Given the description of an element on the screen output the (x, y) to click on. 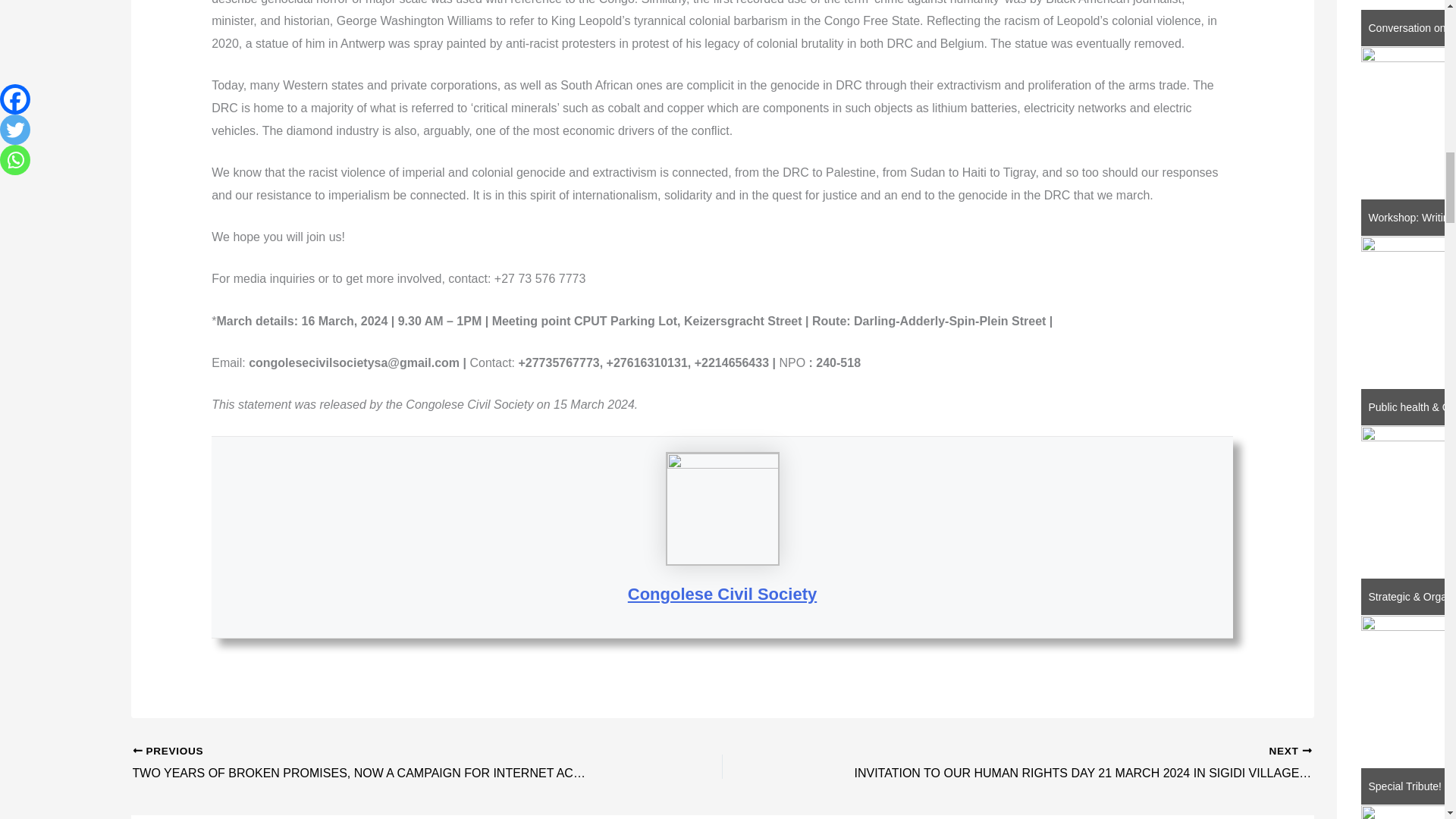
Congolese Civil Society (721, 593)
